Given the description of an element on the screen output the (x, y) to click on. 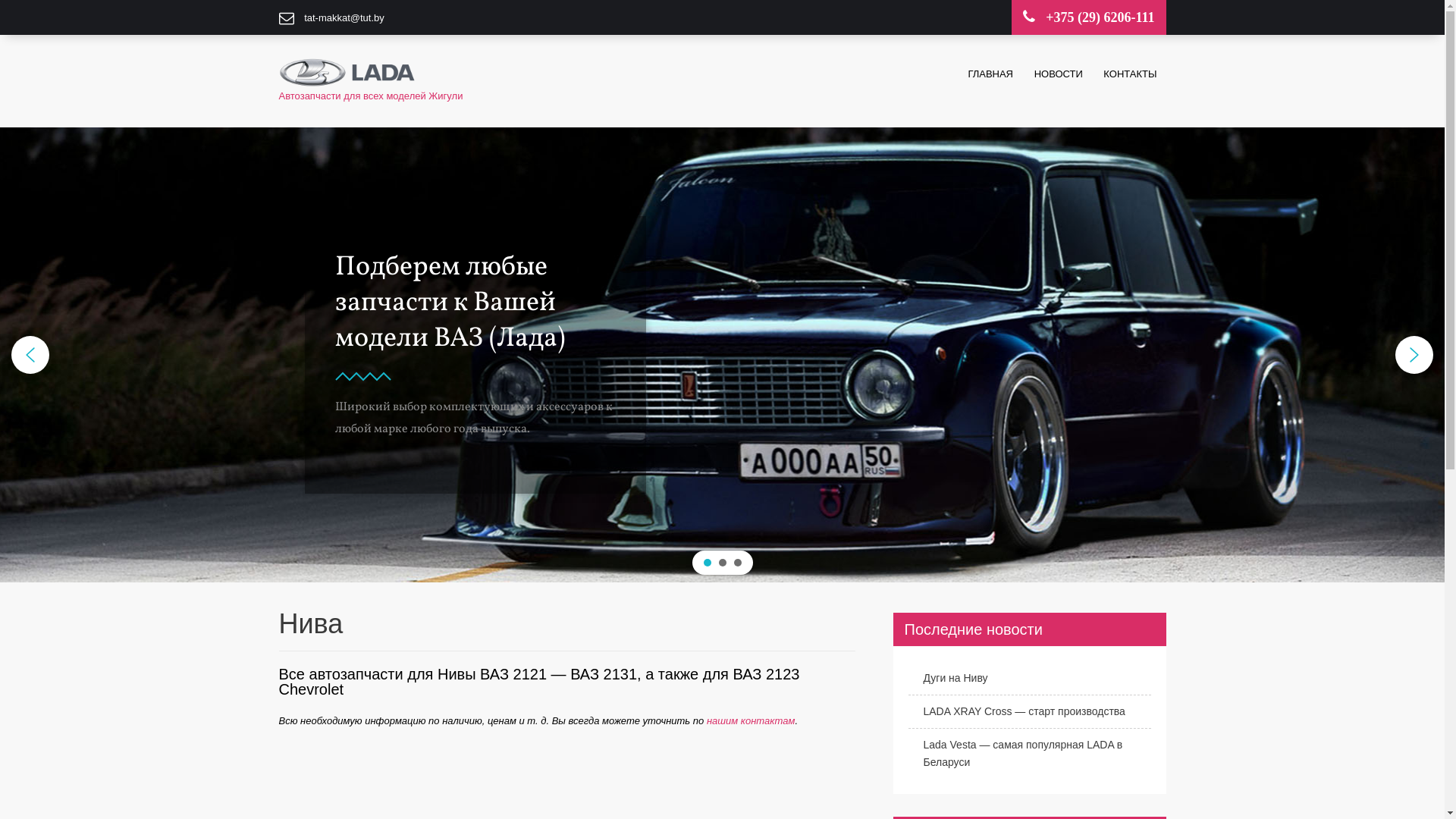
tat-makkat@tut.by Element type: text (344, 17)
